Given the description of an element on the screen output the (x, y) to click on. 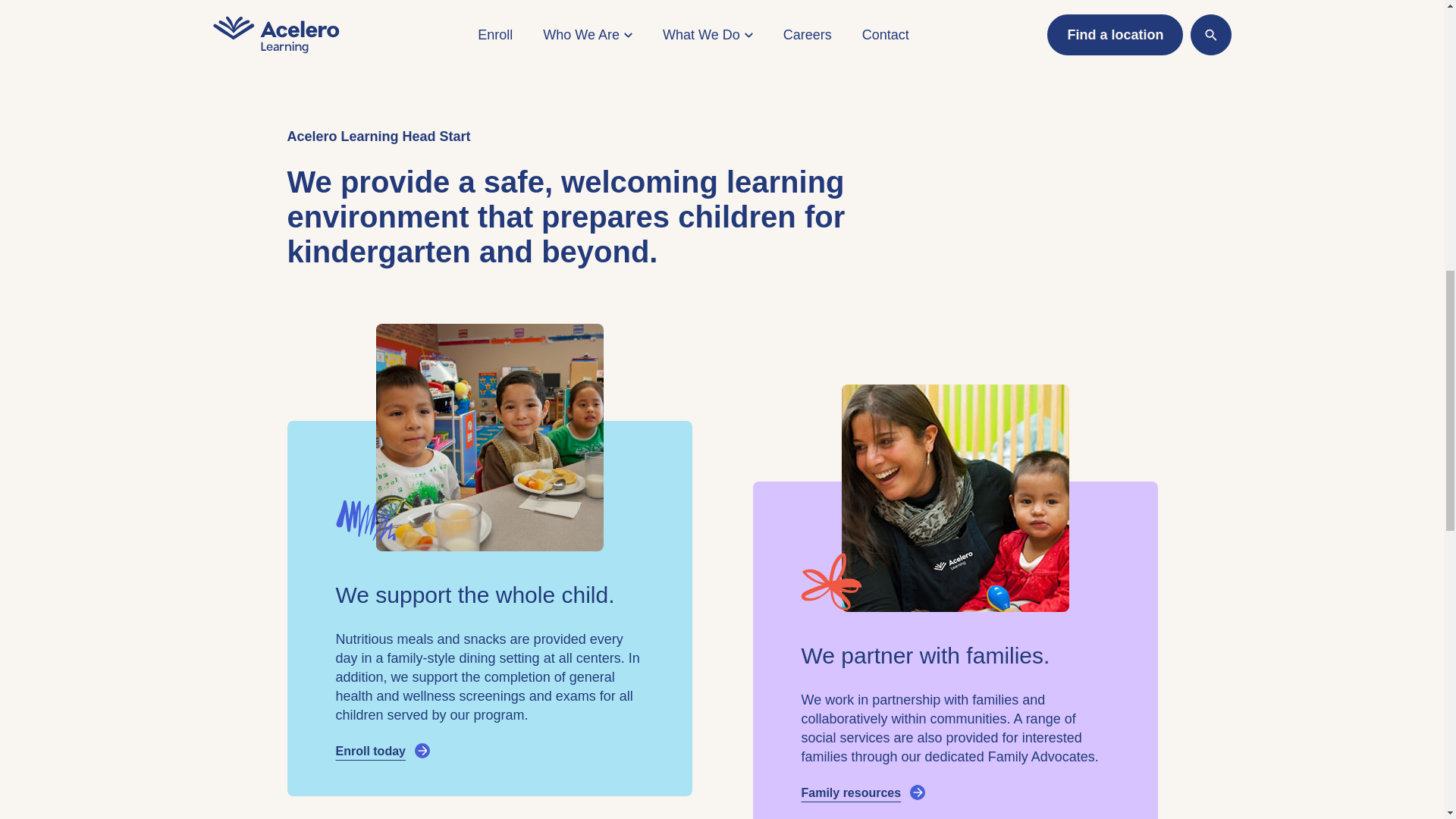
Enroll today (488, 751)
Family resources (954, 792)
Enroll Today (290, 16)
